Given the description of an element on the screen output the (x, y) to click on. 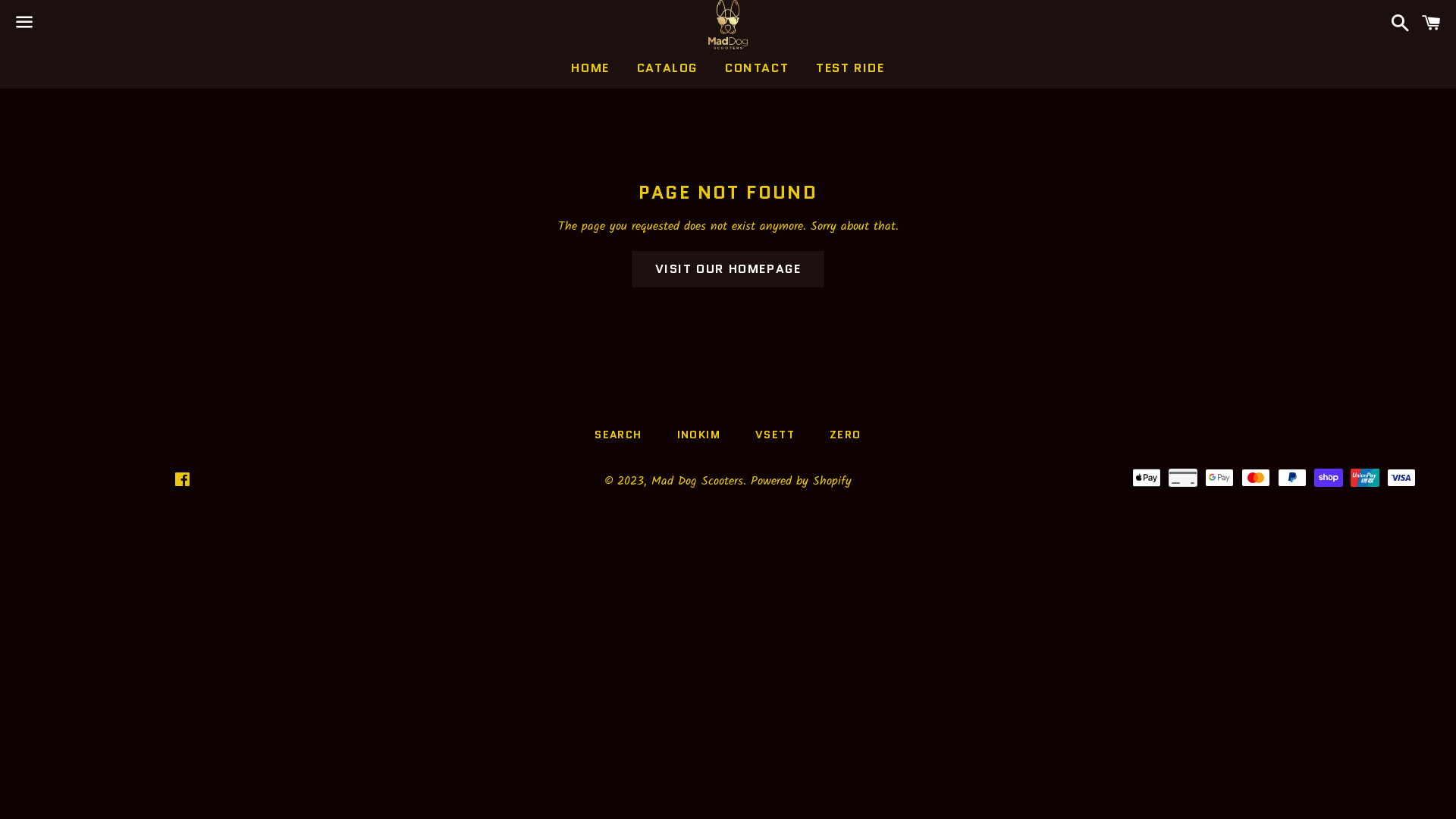
SEARCH Element type: text (617, 434)
VSETT Element type: text (774, 434)
Mad Dog Scooters Element type: text (697, 480)
ZERO Element type: text (845, 434)
INOKIM Element type: text (698, 434)
Cart Element type: text (1431, 24)
Facebook Element type: text (182, 481)
Search Element type: text (1396, 24)
HOME Element type: text (589, 68)
CATALOG Element type: text (667, 68)
Powered by Shopify Element type: text (800, 480)
VISIT OUR HOMEPAGE Element type: text (728, 269)
Menu Element type: text (24, 24)
TEST RIDE Element type: text (849, 68)
CONTACT Element type: text (756, 68)
